Given the description of an element on the screen output the (x, y) to click on. 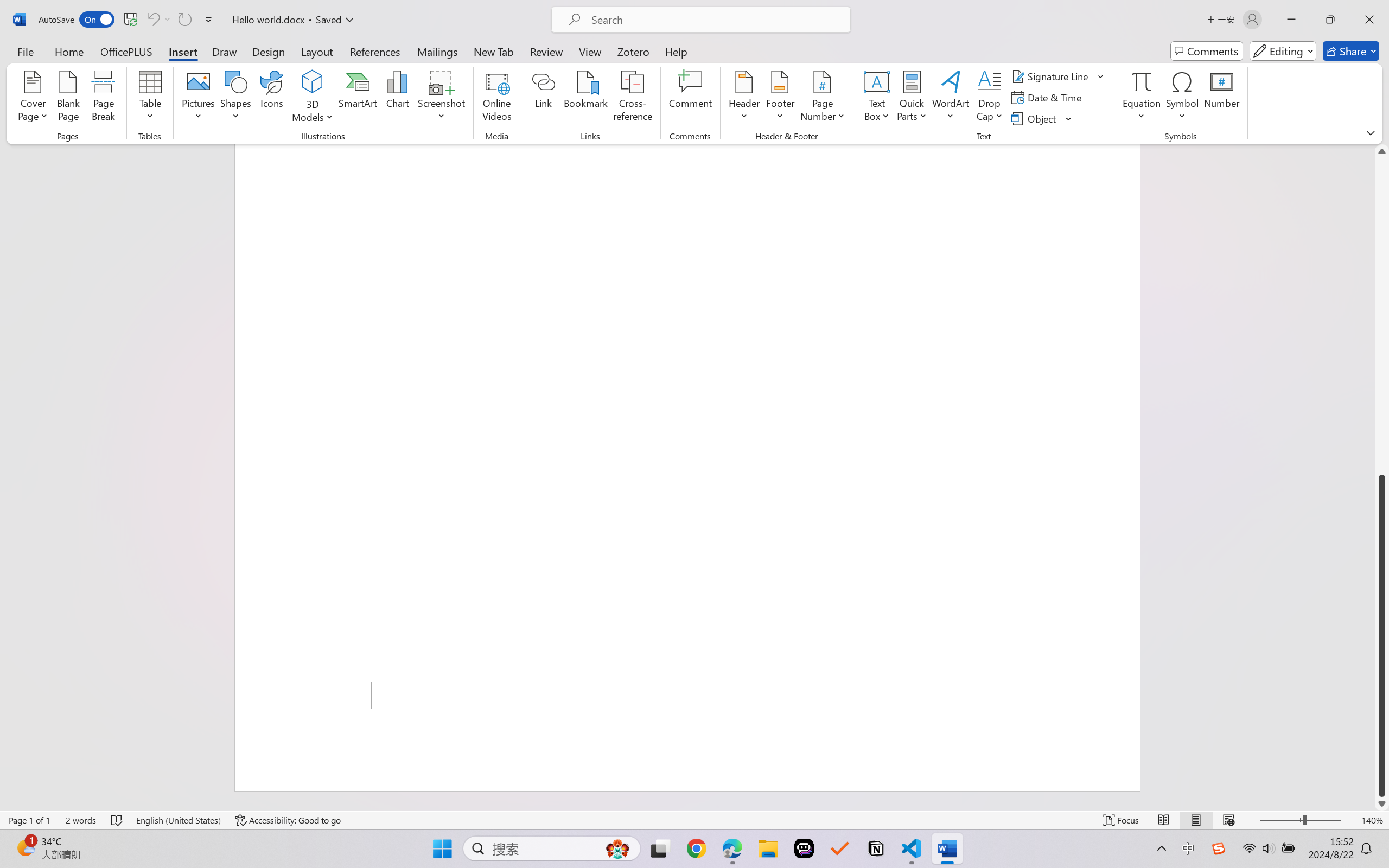
Text Box (876, 97)
Screenshot (441, 97)
Comments (1206, 50)
Draw (224, 51)
Customize Quick Access Toolbar (208, 19)
Class: NetUIScrollBar (1382, 477)
Icons (271, 97)
Date & Time... (1048, 97)
Footer (780, 97)
Print Layout (1196, 819)
Restore Down (1330, 19)
OfficePLUS (126, 51)
Zoom Out (1280, 819)
Zotero (632, 51)
